Given the description of an element on the screen output the (x, y) to click on. 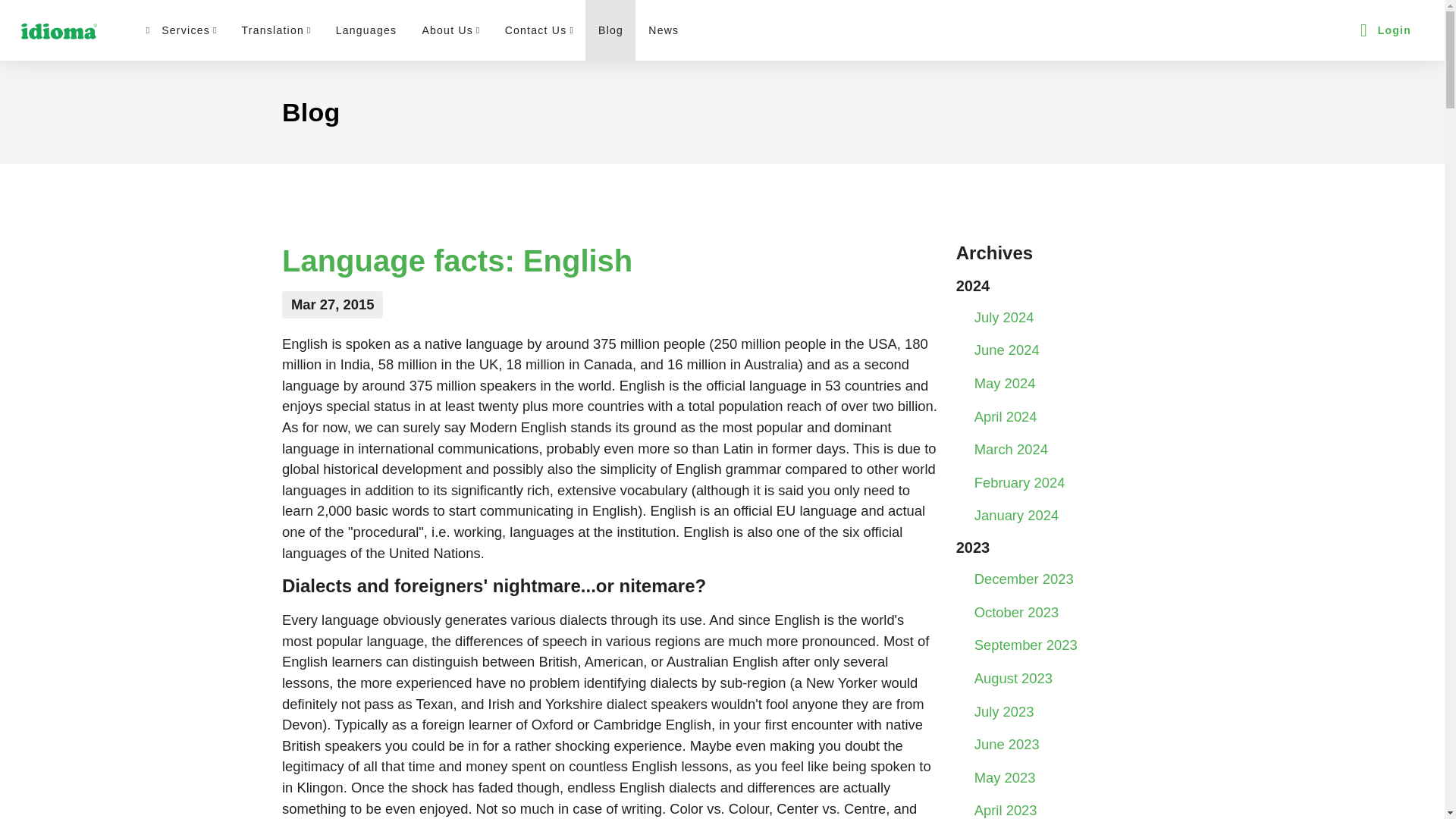
Contact Us (538, 30)
About Us (450, 30)
Translation (274, 30)
News (662, 30)
Login (1385, 30)
Services (180, 30)
Languages (365, 30)
